Given the description of an element on the screen output the (x, y) to click on. 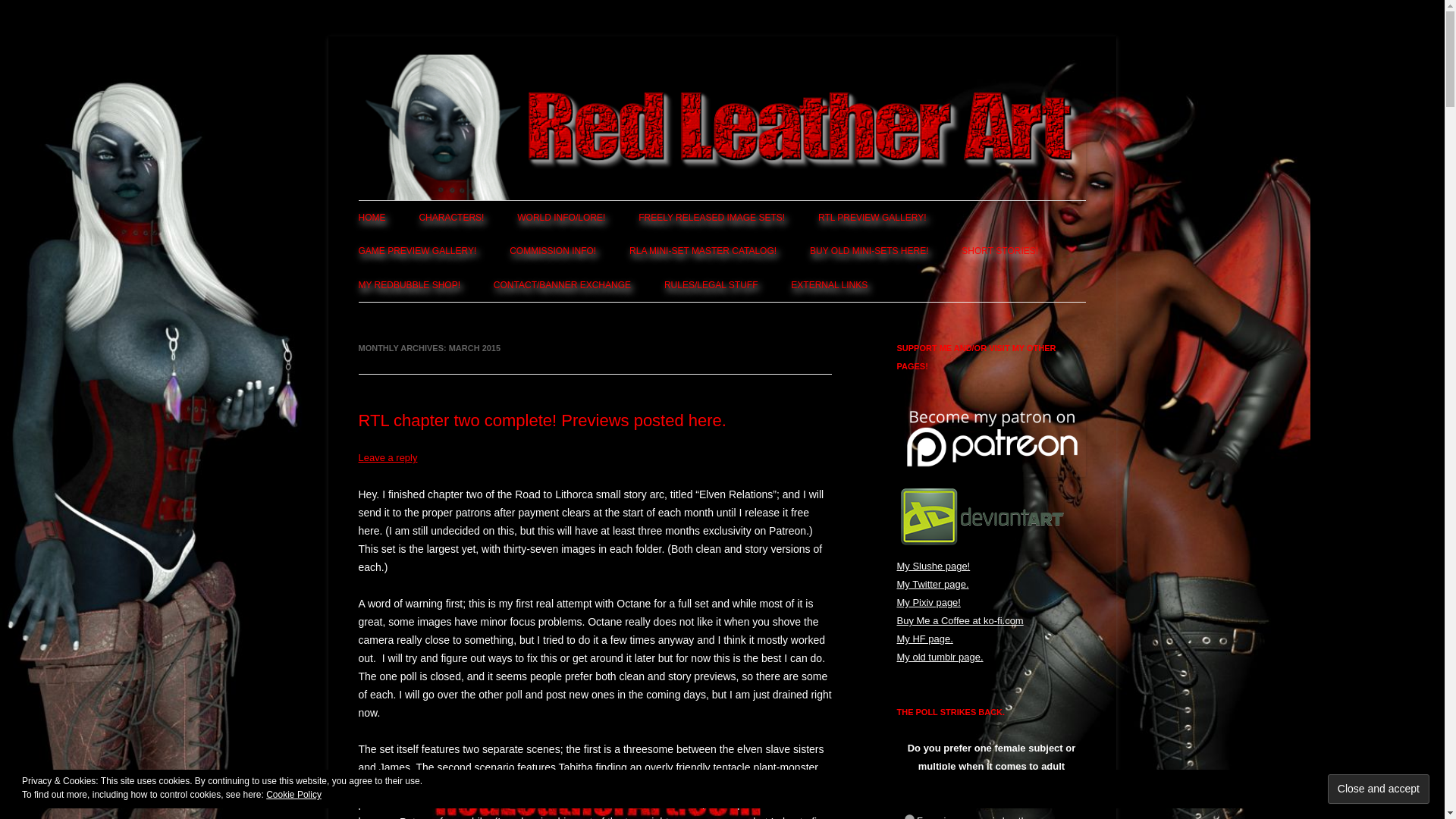
GAME PREVIEW GALLERY! (417, 250)
BUY OLD MINI-SETS HERE! (868, 250)
Close and accept (1378, 788)
Leave a reply (387, 457)
Red Leather Art (431, 72)
Red Leather Art (431, 72)
CHARACTERS! (451, 217)
RTL PREVIEW GALLERY! (872, 217)
COMMISSION INFO! (552, 250)
EXTERNAL LINKS (828, 285)
FREELY RELEASED IMAGE SETS! (711, 217)
MY REDBUBBLE SHOP! (409, 285)
RTL chapter two complete! Previews posted here. (541, 420)
